Given the description of an element on the screen output the (x, y) to click on. 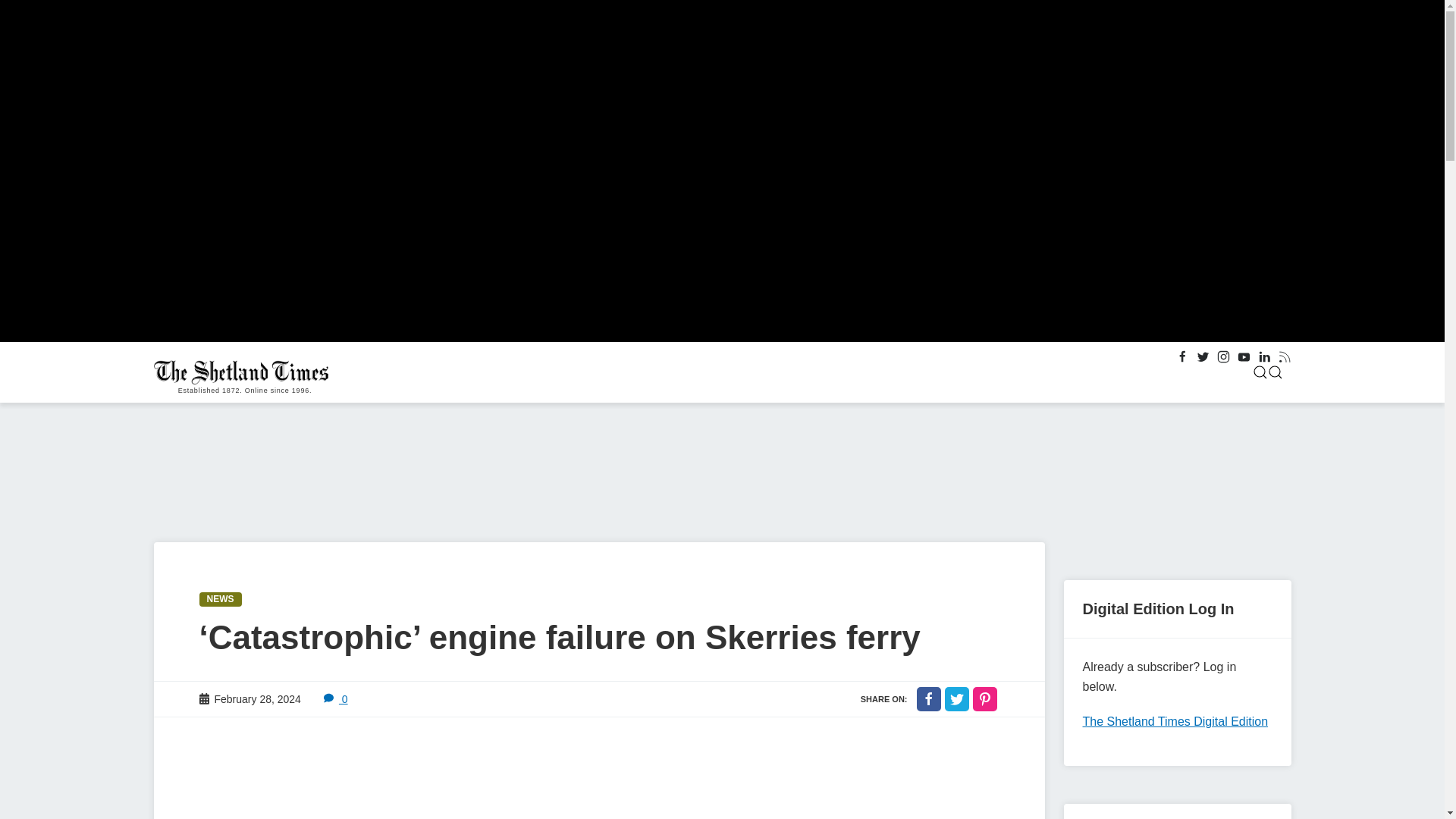
0 (335, 698)
Established 1872. Online since 1996. (244, 372)
NEWS (219, 599)
